Given the description of an element on the screen output the (x, y) to click on. 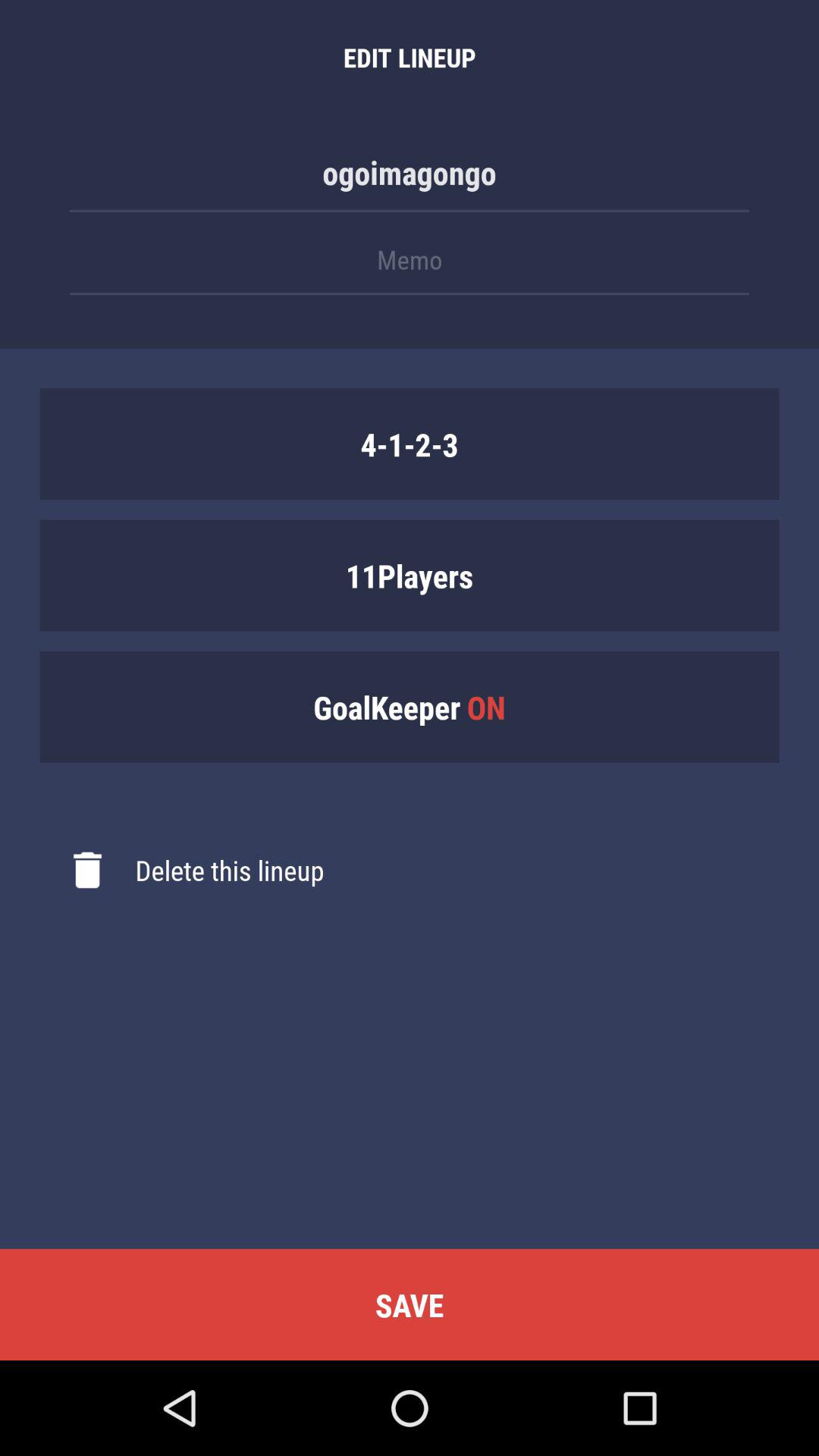
flip to the ogoimagongo item (409, 179)
